Given the description of an element on the screen output the (x, y) to click on. 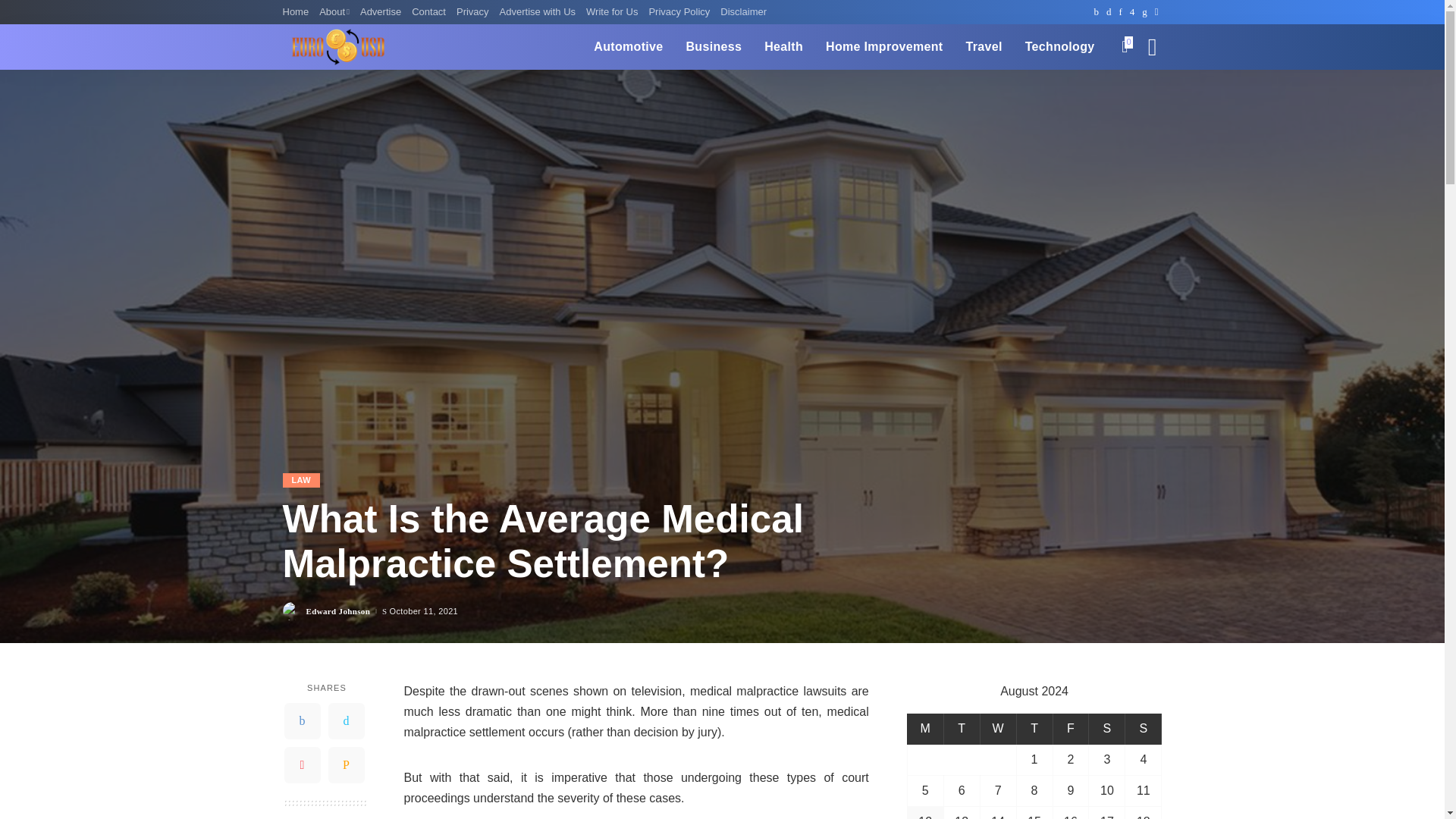
Pinterest (301, 764)
Friday (1070, 728)
Travel (984, 46)
Twitter (345, 720)
Search (1140, 97)
Technology (1059, 46)
Euro to USD (338, 46)
Advertise (380, 12)
Privacy Policy (678, 12)
Automotive (628, 46)
